Given the description of an element on the screen output the (x, y) to click on. 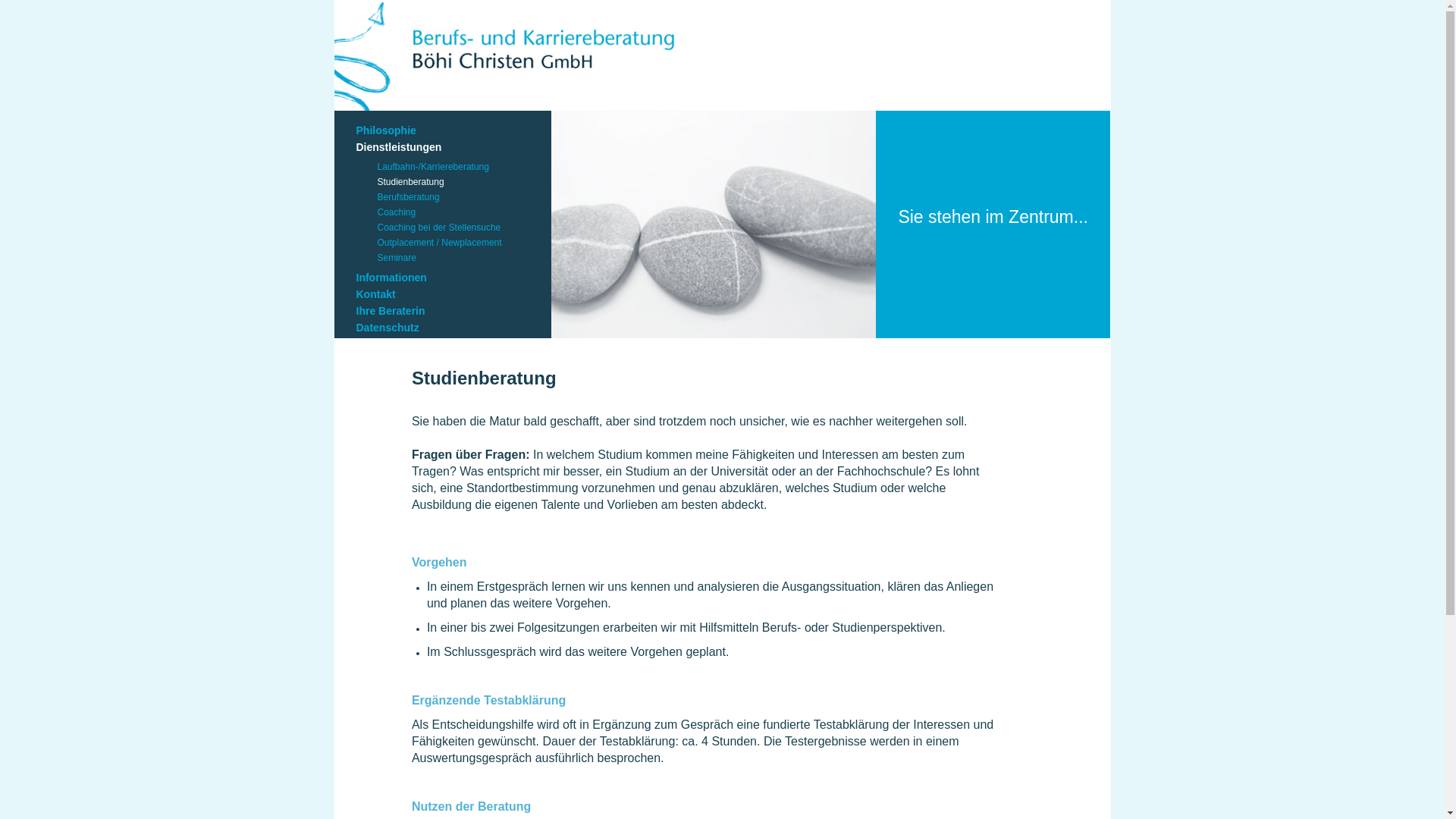
Informationen Element type: text (442, 277)
Berufsberatung Element type: text (454, 196)
Laufbahn-/Karriereberatung Element type: text (454, 166)
Coaching Element type: text (454, 211)
Outplacement / Newplacement Element type: text (454, 242)
Dienstleistungen Element type: text (442, 146)
Datenschutz Element type: text (442, 327)
Seminare Element type: text (454, 257)
Philosophie Element type: text (442, 130)
Ihre Beraterin Element type: text (442, 310)
Studienberatung Element type: text (454, 181)
Coaching bei der Stellensuche Element type: text (454, 227)
Kontakt Element type: text (442, 293)
